Given the description of an element on the screen output the (x, y) to click on. 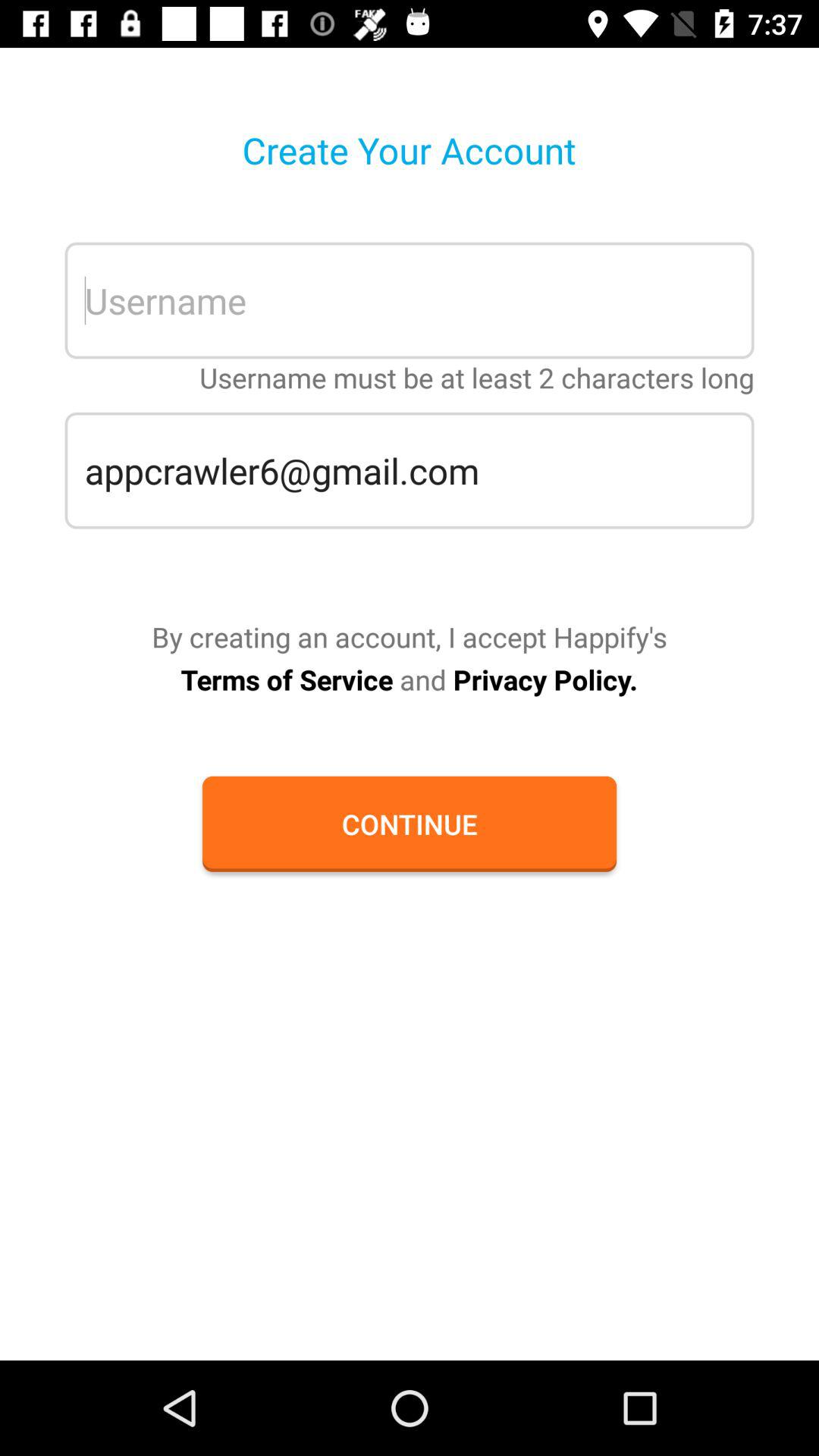
fill username (409, 300)
